Given the description of an element on the screen output the (x, y) to click on. 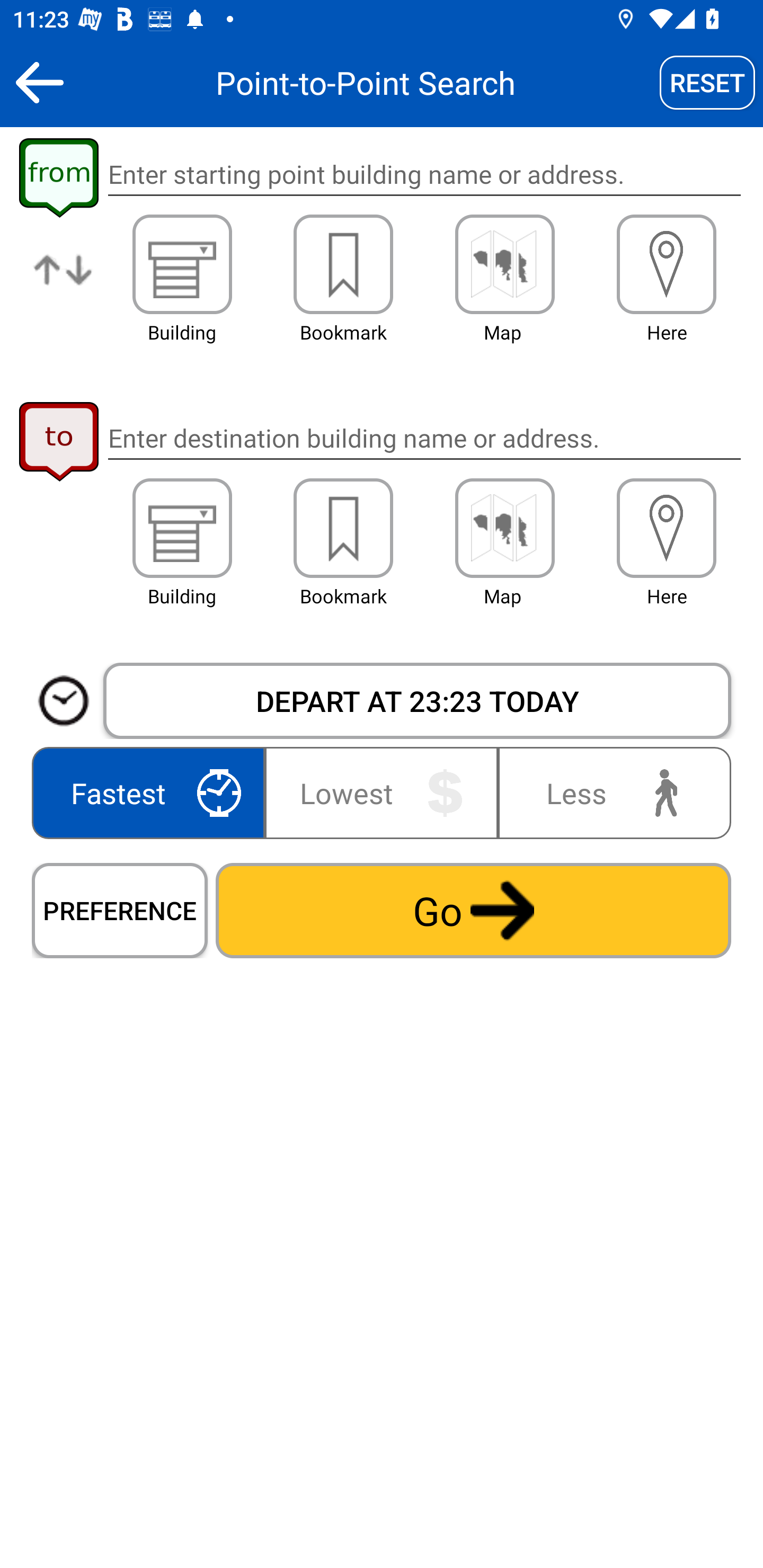
Back (39, 82)
RESET Reset (707, 81)
Enter starting point building name or address. (423, 174)
Building (181, 263)
Bookmarks (342, 263)
Select location on map (504, 263)
Here (666, 263)
Swap origin and destination (63, 284)
Enter destination building name or address. (423, 437)
Building (181, 528)
Bookmarks (342, 528)
Select location on map (504, 528)
Here (666, 528)
Lowest (381, 792)
Fastest selected (151, 792)
Less (610, 792)
PREFERENCE Preference (119, 910)
Go (472, 910)
